Given the description of an element on the screen output the (x, y) to click on. 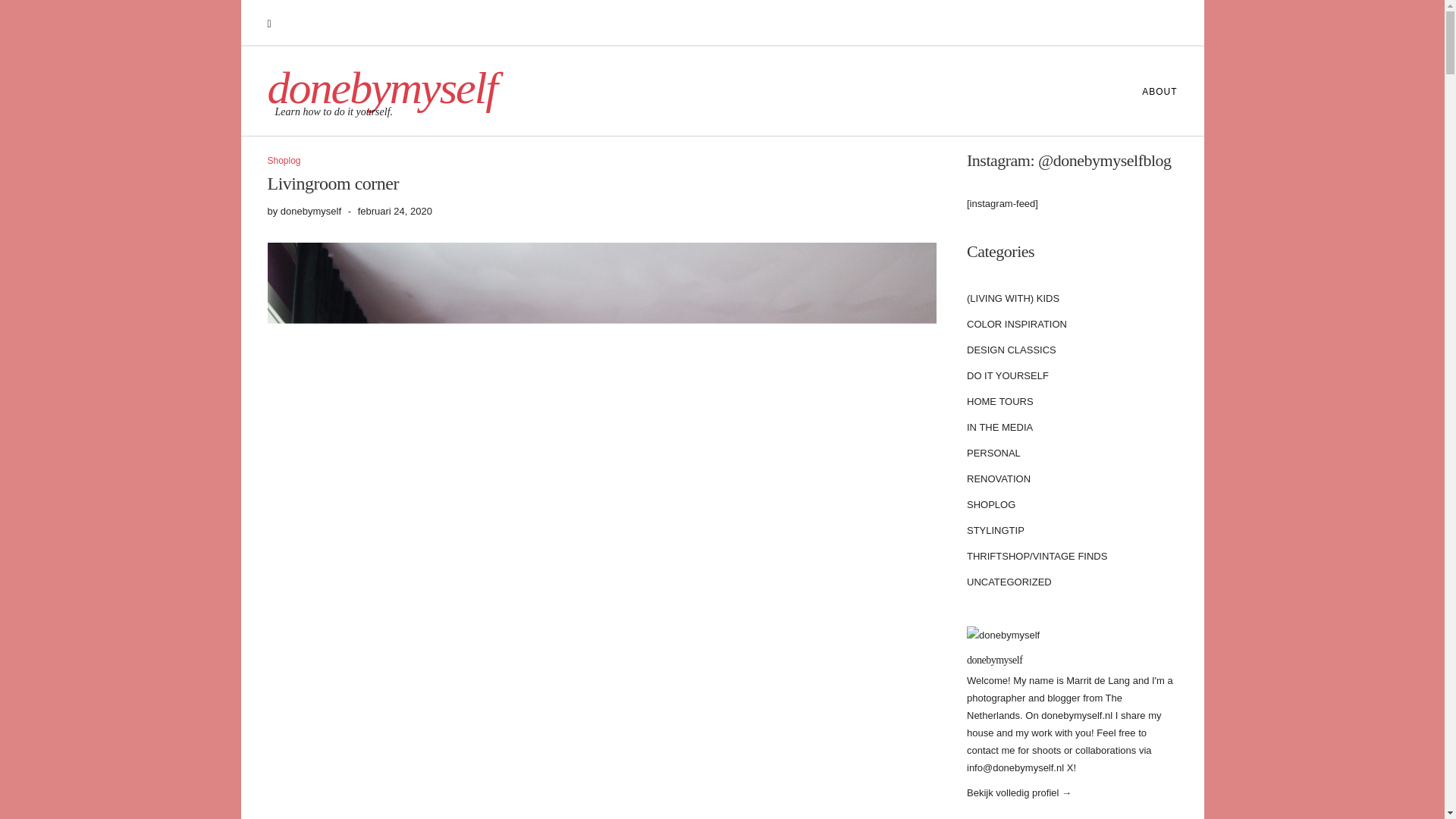
PERSONAL (993, 453)
UNCATEGORIZED (1008, 582)
donebymyself (381, 88)
ABOUT (1151, 91)
Shoplog (282, 160)
DO IT YOURSELF (1007, 376)
HOME TOURS (999, 401)
donebymyself (994, 659)
RENOVATION (998, 479)
COLOR INSPIRATION (1016, 324)
DESIGN CLASSICS (1011, 350)
IN THE MEDIA (999, 427)
STYLINGTIP (995, 530)
SHOPLOG (990, 504)
